Given the description of an element on the screen output the (x, y) to click on. 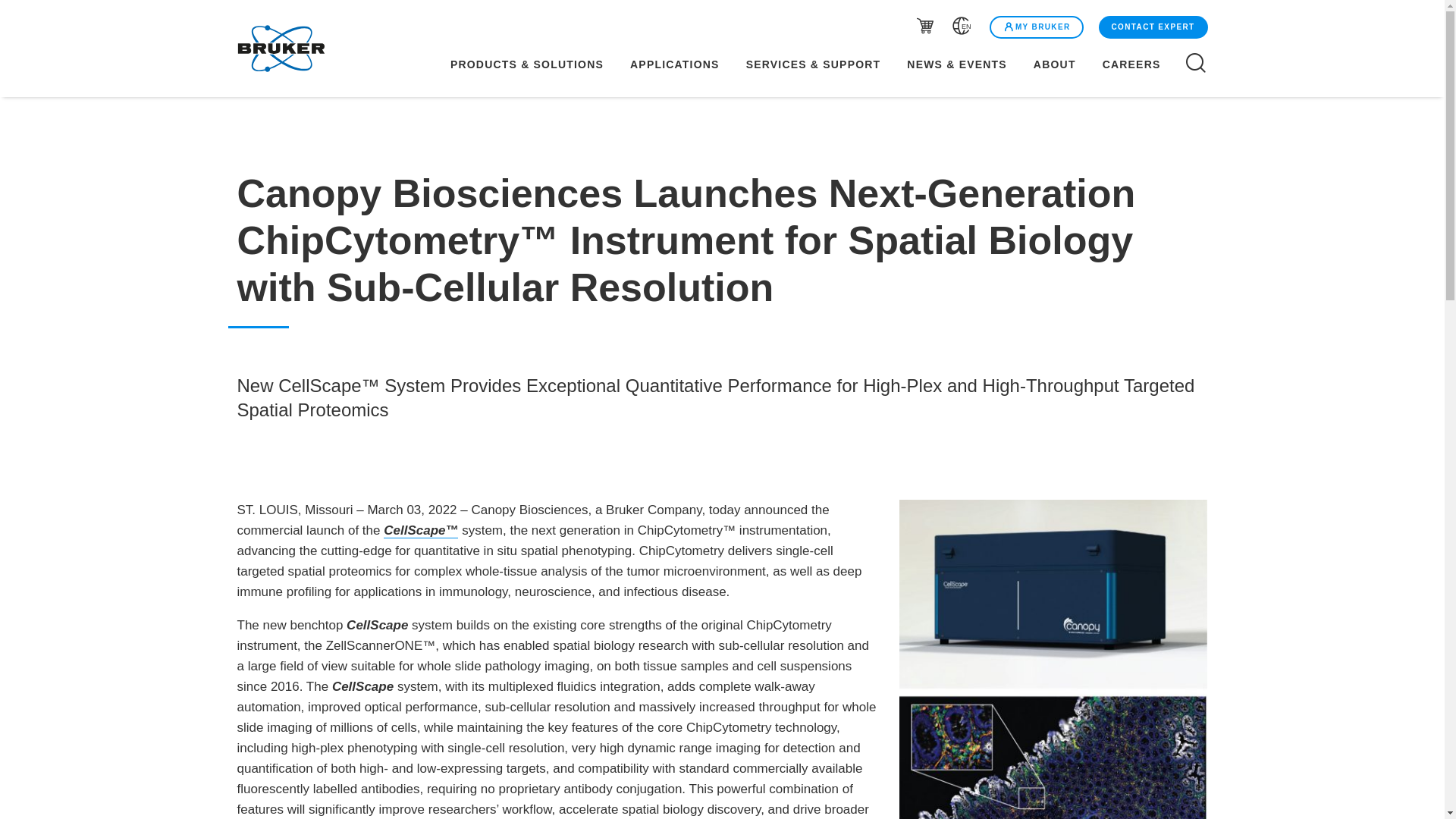
APPLICATIONS (674, 64)
MY BRUKER (1036, 26)
CONTACT EXPERT (1153, 26)
ABOUT (1054, 64)
CAREERS (1141, 64)
CONTACT EXPERT (1151, 27)
